Given the description of an element on the screen output the (x, y) to click on. 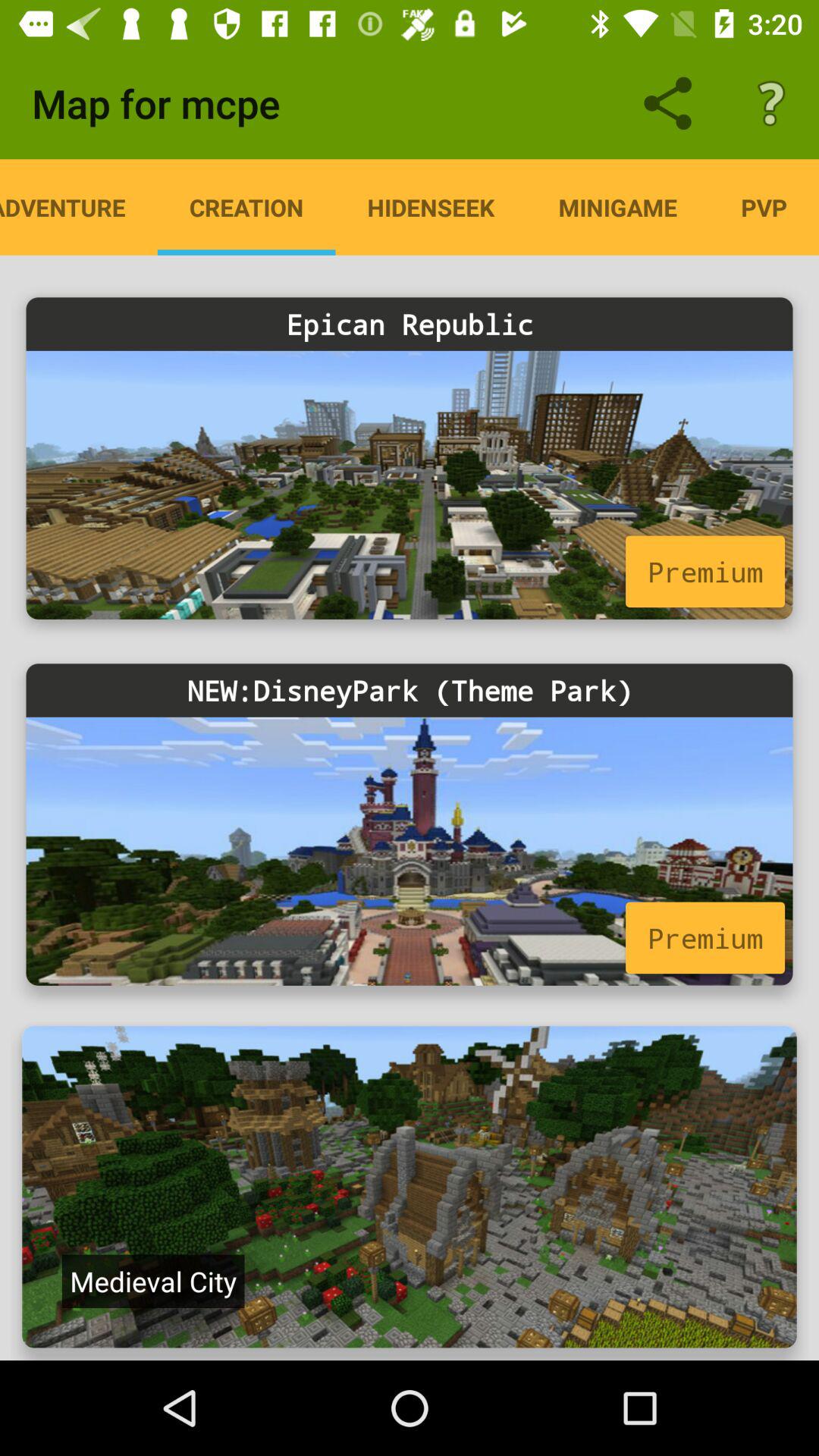
premium link for epican republic map (409, 484)
